Given the description of an element on the screen output the (x, y) to click on. 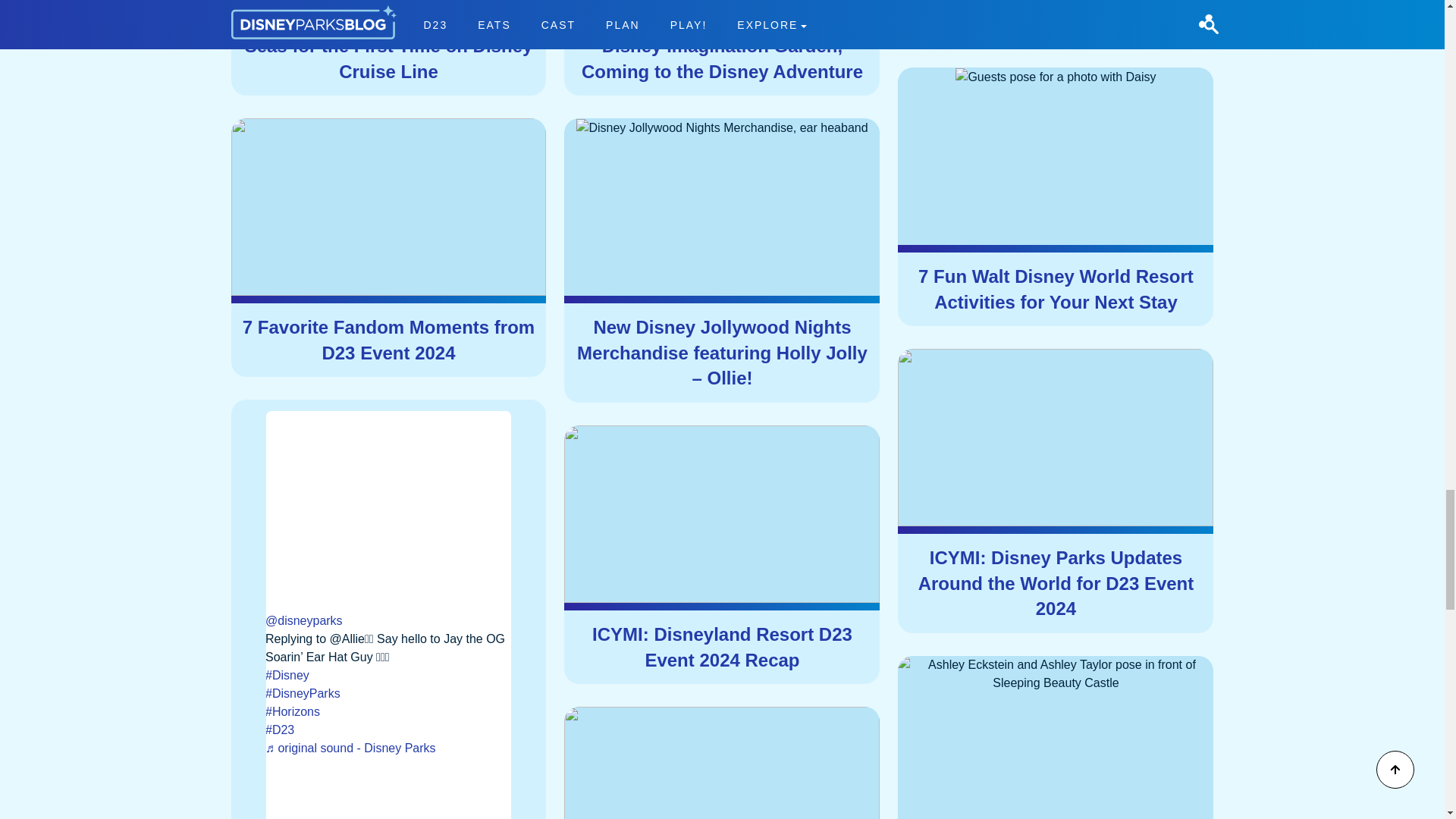
disneyparks (388, 693)
disney (388, 675)
horizons (388, 711)
d23 (388, 730)
